Given the description of an element on the screen output the (x, y) to click on. 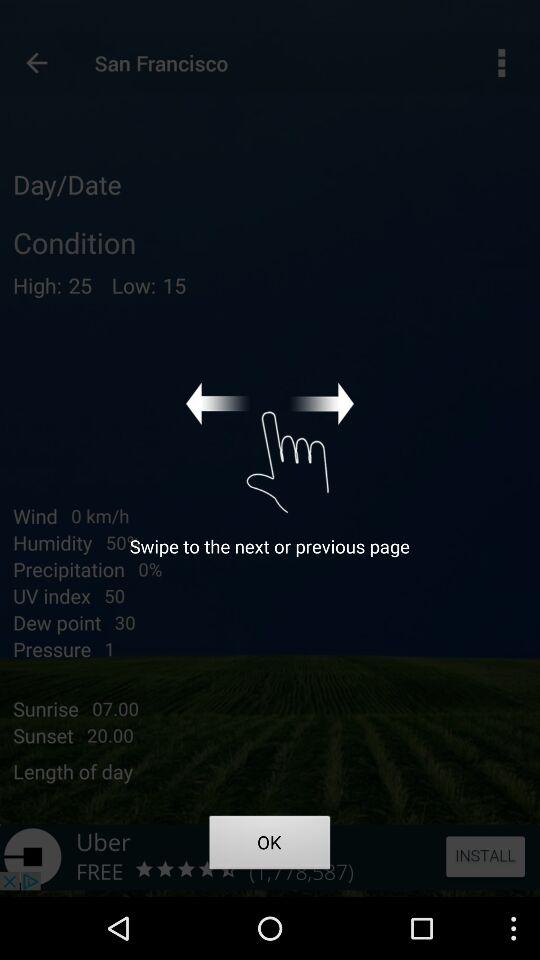
choose the app below swipe to the app (269, 845)
